Given the description of an element on the screen output the (x, y) to click on. 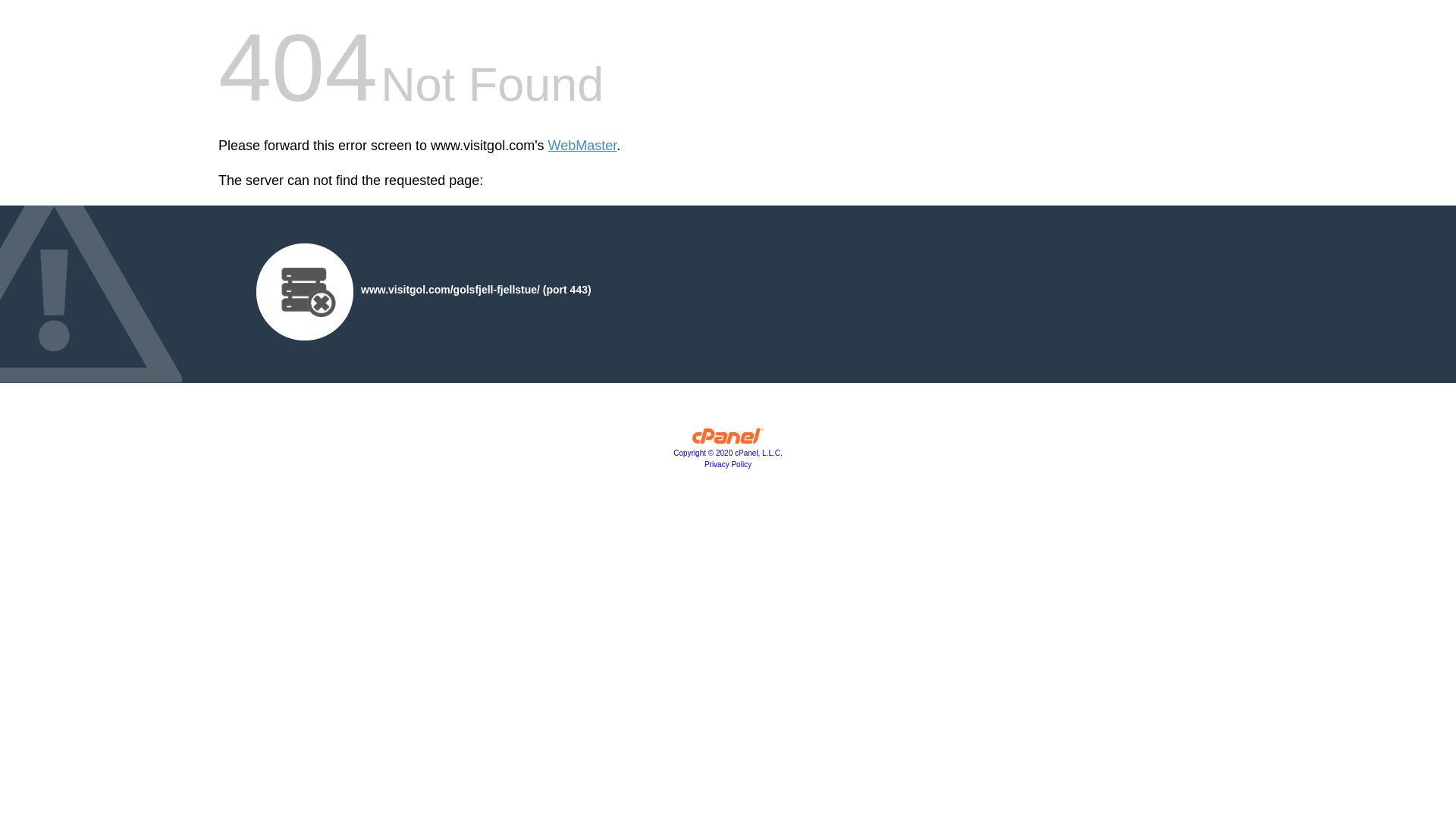
cPanel, Inc. (728, 439)
WebMaster (582, 145)
cPanel, Inc. (727, 452)
Privacy Policy (727, 464)
